Given the description of an element on the screen output the (x, y) to click on. 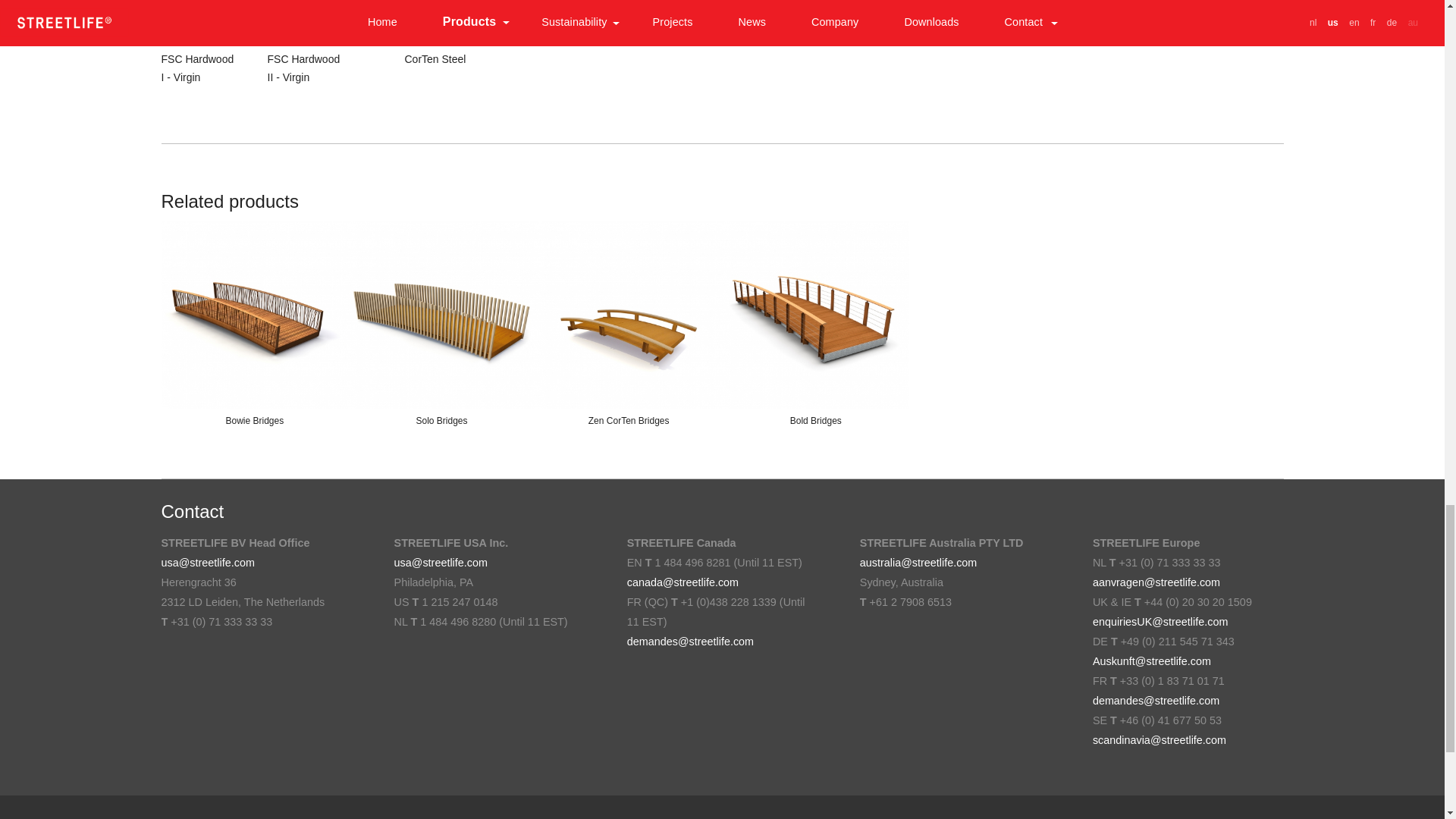
CorTen Steel (442, 22)
Solo Bridges (441, 314)
Bowie Bridges (253, 314)
Bold Bridges (815, 314)
Zen CorTen Bridges (628, 314)
